Given the description of an element on the screen output the (x, y) to click on. 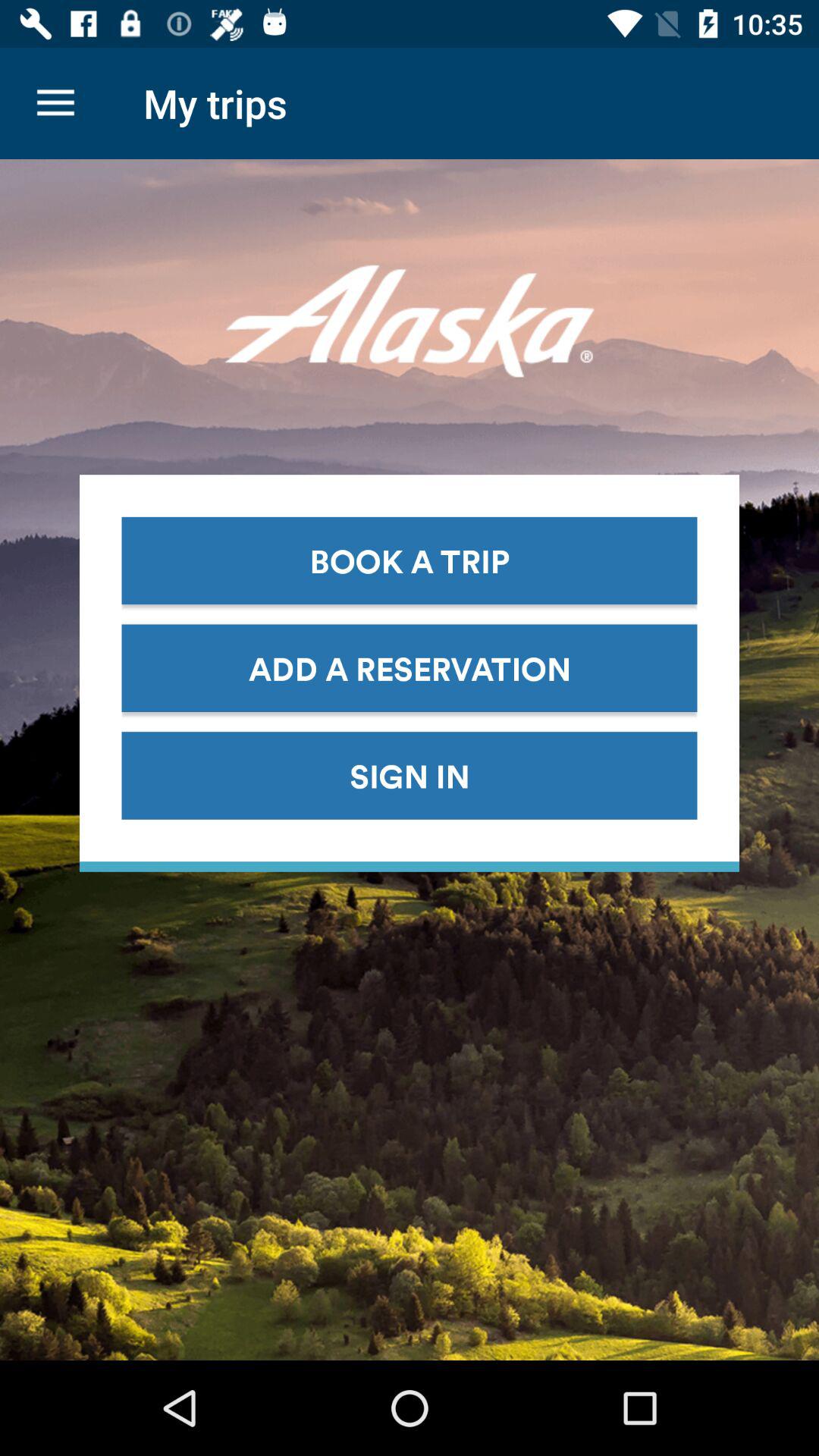
launch the icon next to my trips icon (55, 103)
